Given the description of an element on the screen output the (x, y) to click on. 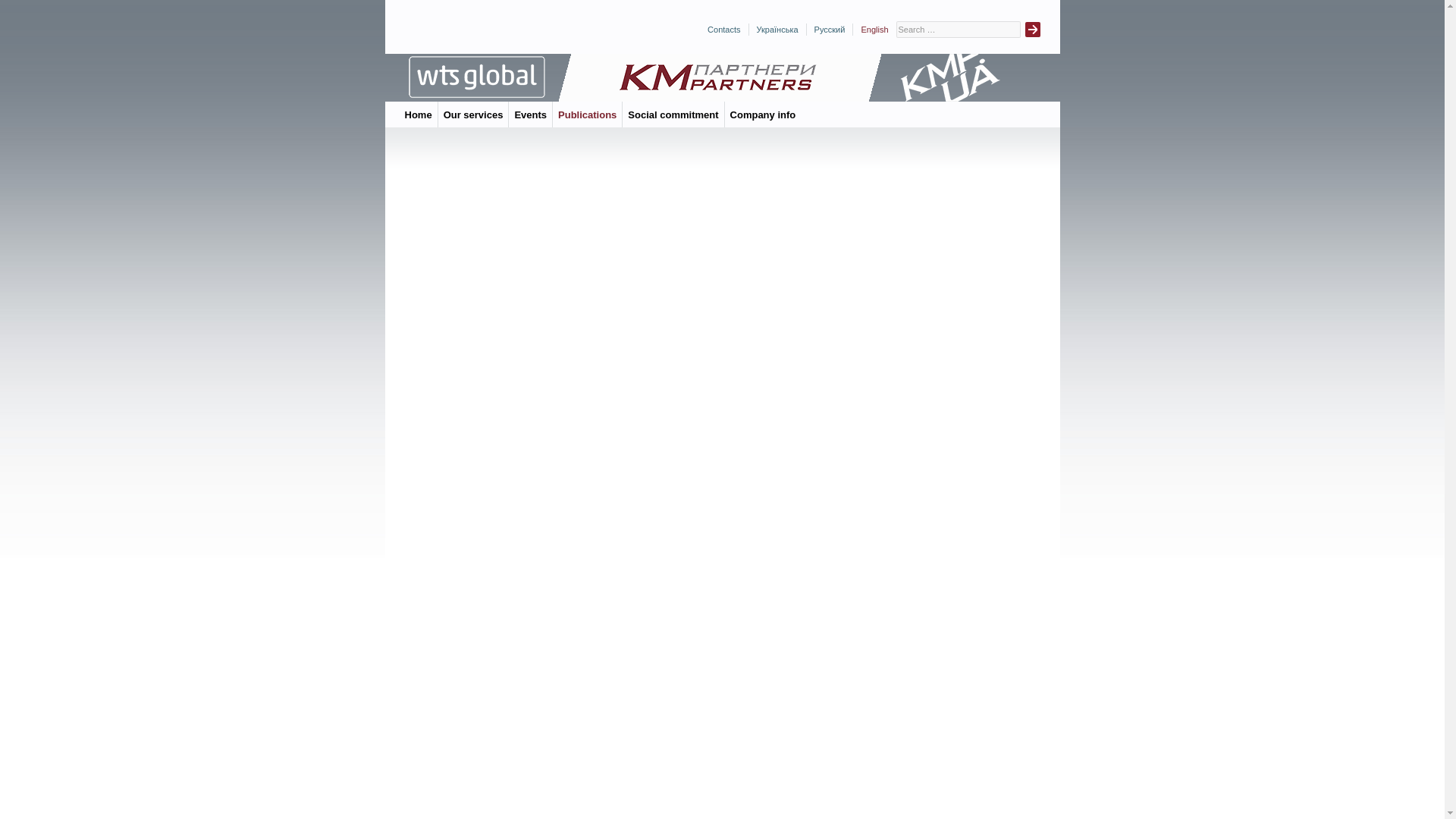
Events (530, 114)
English (874, 29)
Our services (473, 114)
Social commitment (672, 114)
Search (1033, 29)
Home (418, 114)
Publications (586, 114)
Search (1033, 29)
English (874, 29)
Search (1033, 29)
